Given the description of an element on the screen output the (x, y) to click on. 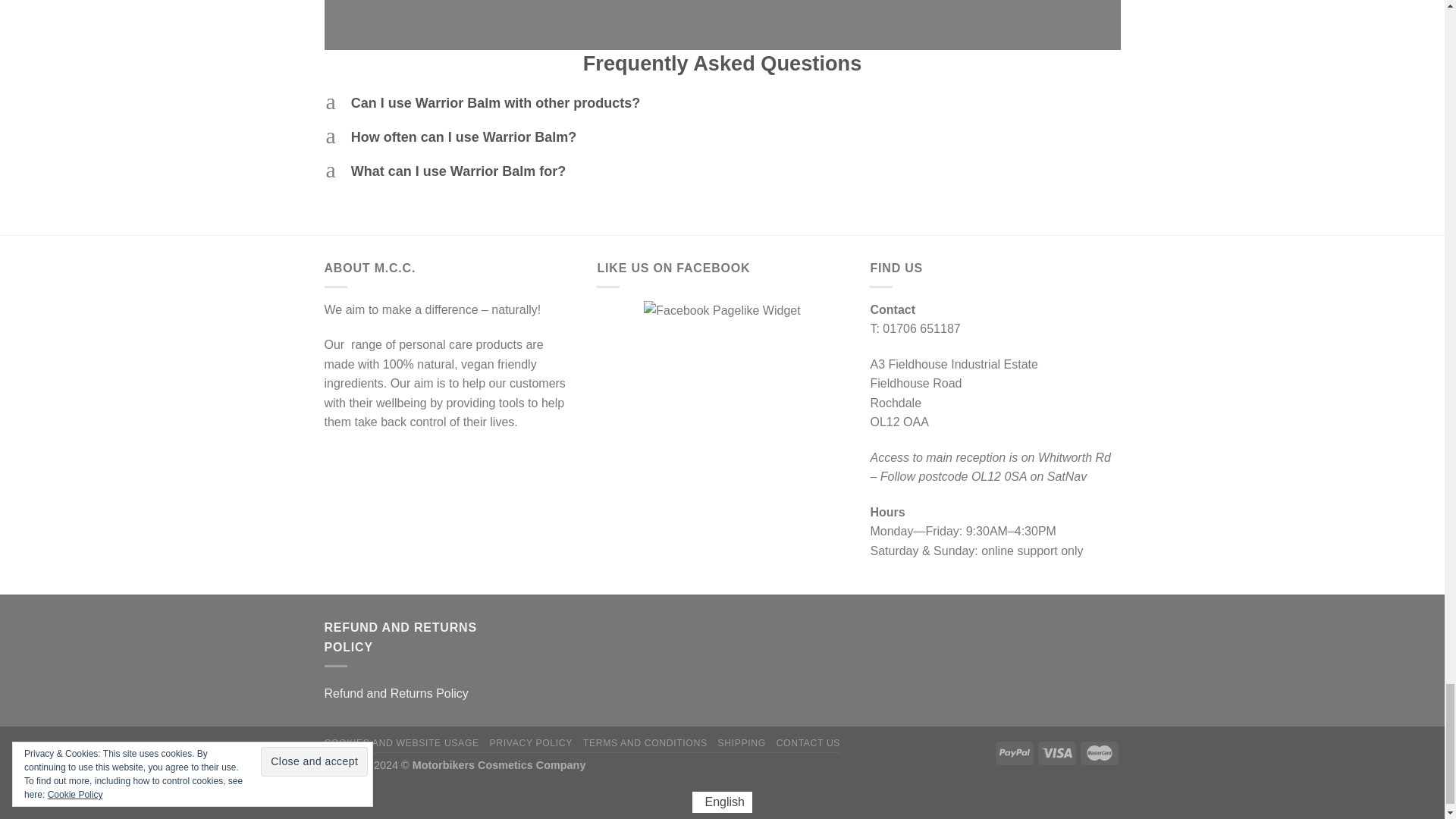
COOKIES AND WEBSITE USAGE (722, 171)
Refund and Returns Policy (722, 137)
